Given the description of an element on the screen output the (x, y) to click on. 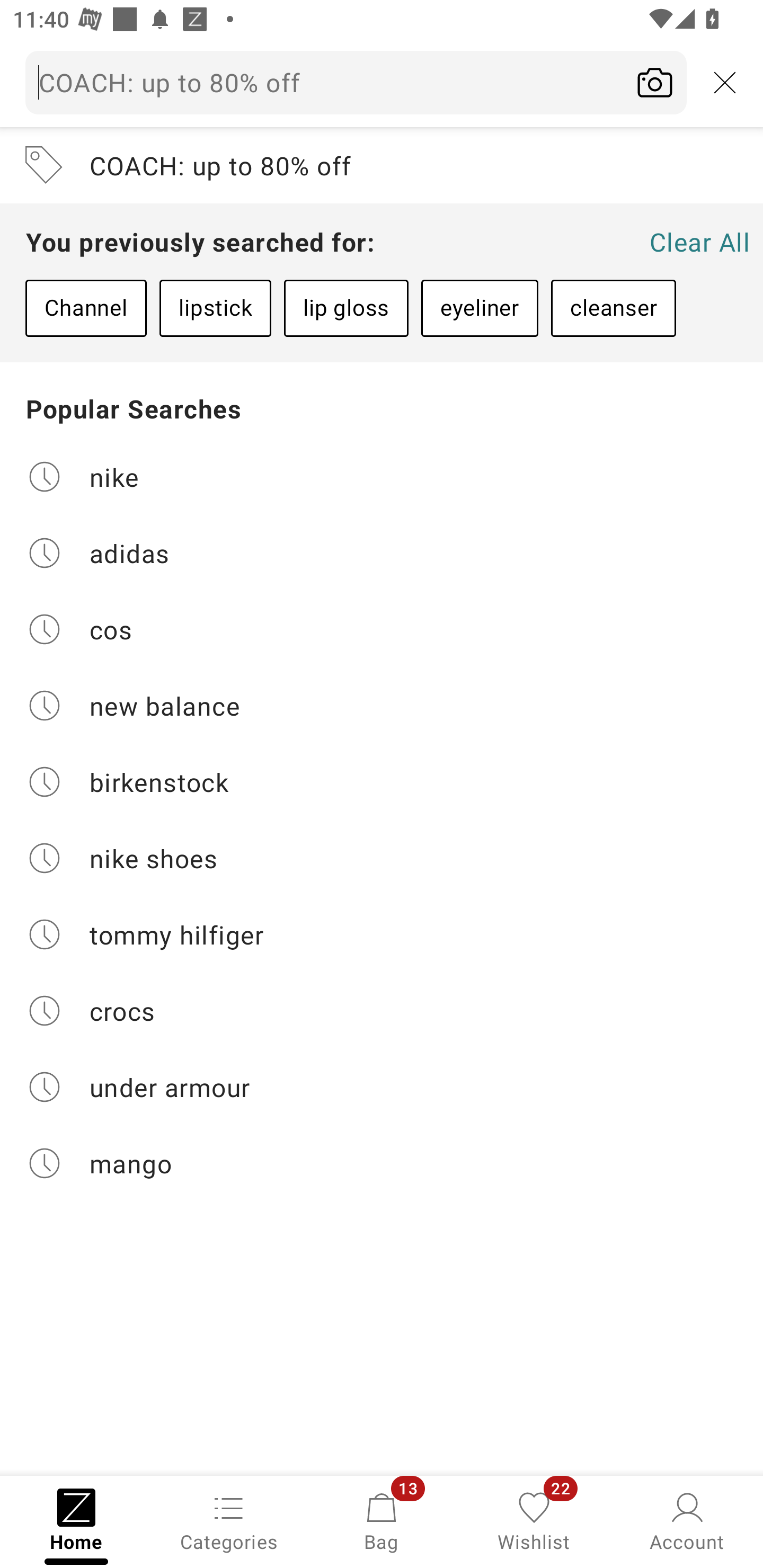
COACH: up to 80% off (355, 82)
COACH: up to 80% off (381, 165)
Clear All (699, 241)
Channel (85, 308)
lipstick (215, 308)
lip gloss (345, 308)
eyeliner (479, 308)
cleanser (613, 308)
nike (381, 476)
adidas (381, 552)
cos (381, 629)
new balance (381, 705)
birkenstock (381, 781)
nike shoes (381, 858)
tommy hilfiger (381, 934)
crocs (381, 1010)
under armour (381, 1086)
mango (381, 1163)
Categories (228, 1519)
Bag, 13 new notifications Bag (381, 1519)
Wishlist, 22 new notifications Wishlist (533, 1519)
Account (686, 1519)
